Given the description of an element on the screen output the (x, y) to click on. 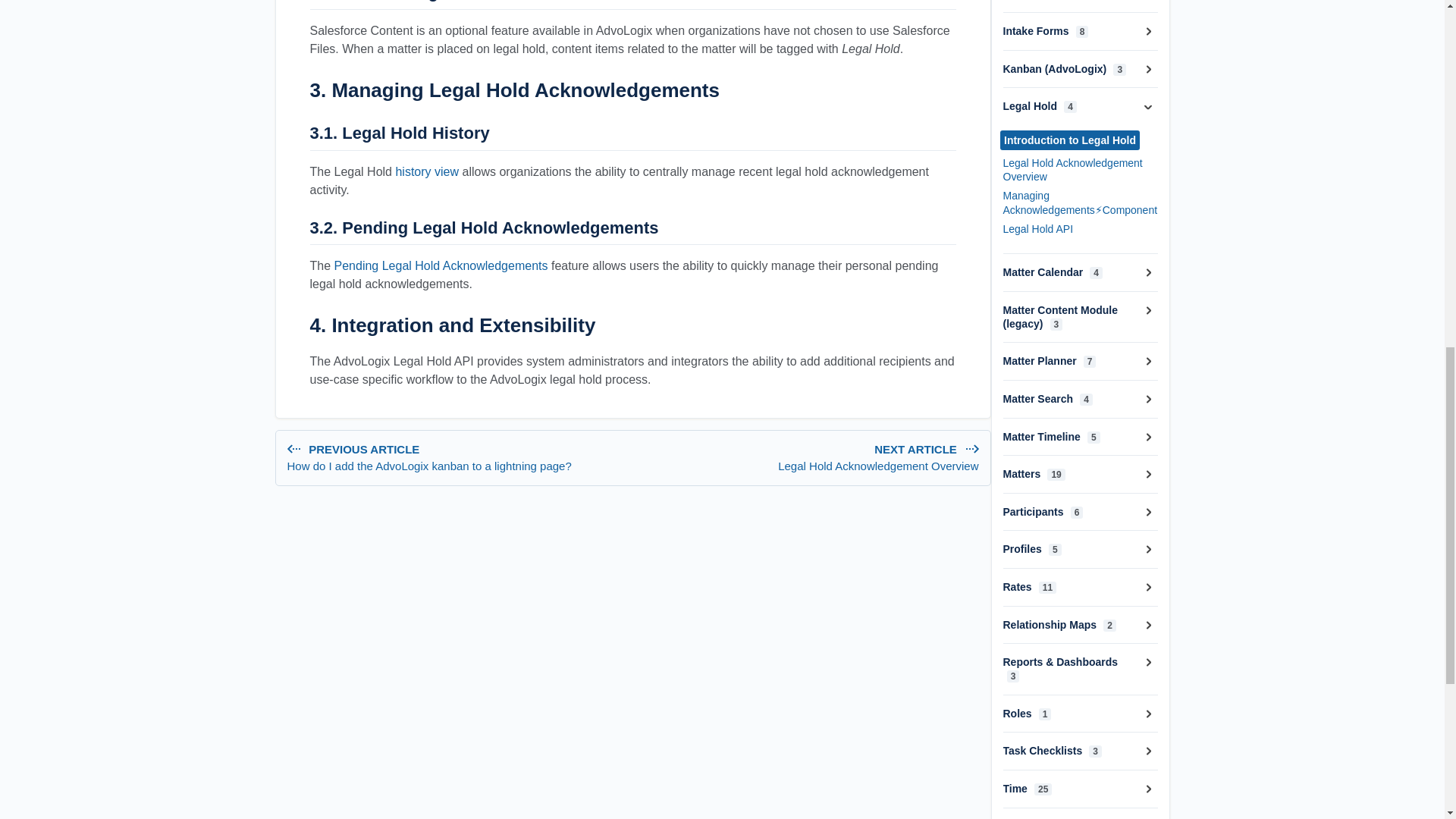
history view (426, 171)
Legal Hold Acknowledgement Overview (877, 466)
How do I add the AdvoLogix kanban to a lightning page? (808, 457)
Pending Legal Hold Acknowledgements (456, 466)
